Given the description of an element on the screen output the (x, y) to click on. 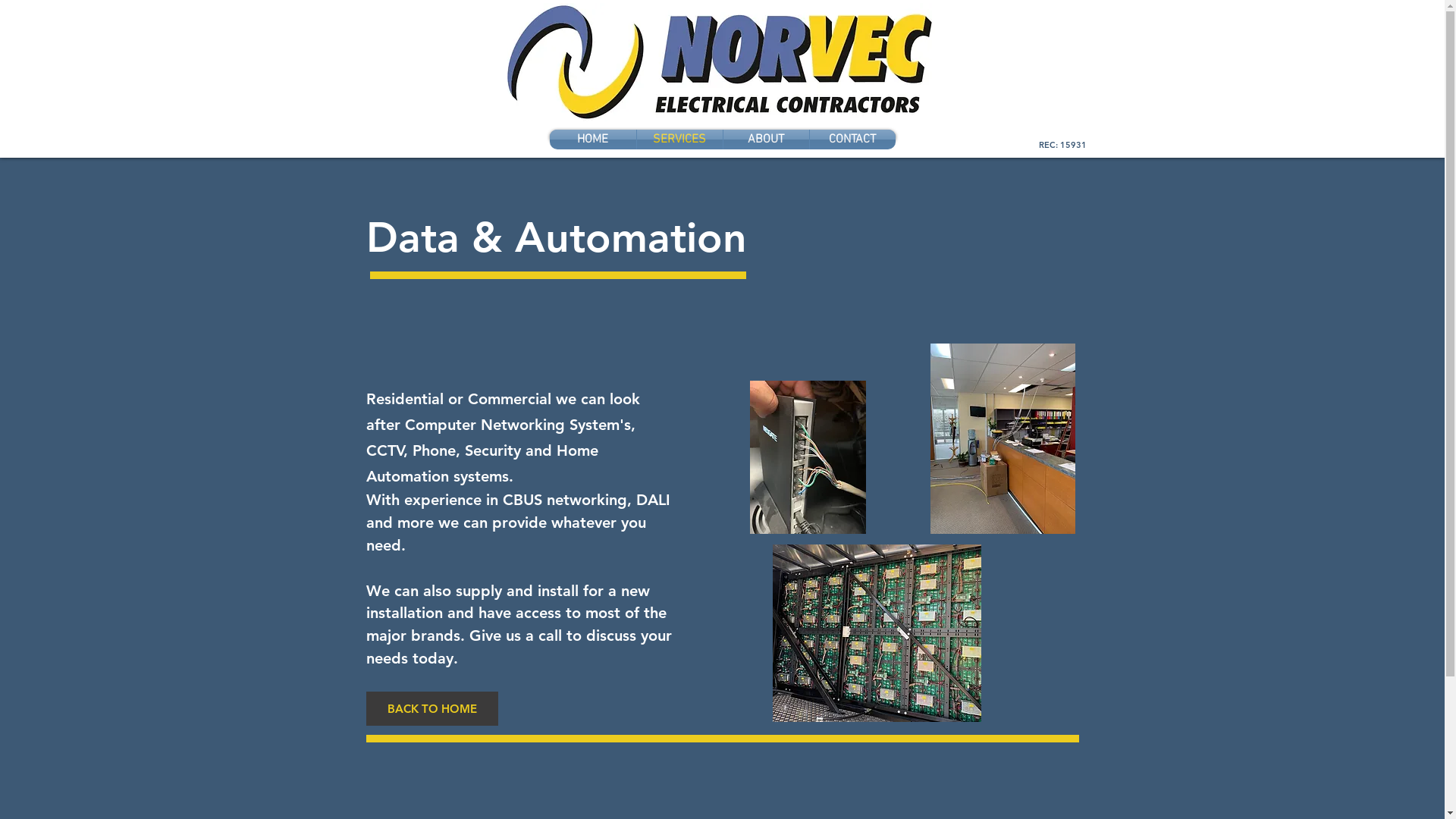
ABOUT Element type: text (766, 139)
HOME Element type: text (592, 139)
CONTACT Element type: text (852, 139)
BACK TO HOME Element type: text (431, 708)
SERVICES Element type: text (679, 139)
